Given the description of an element on the screen output the (x, y) to click on. 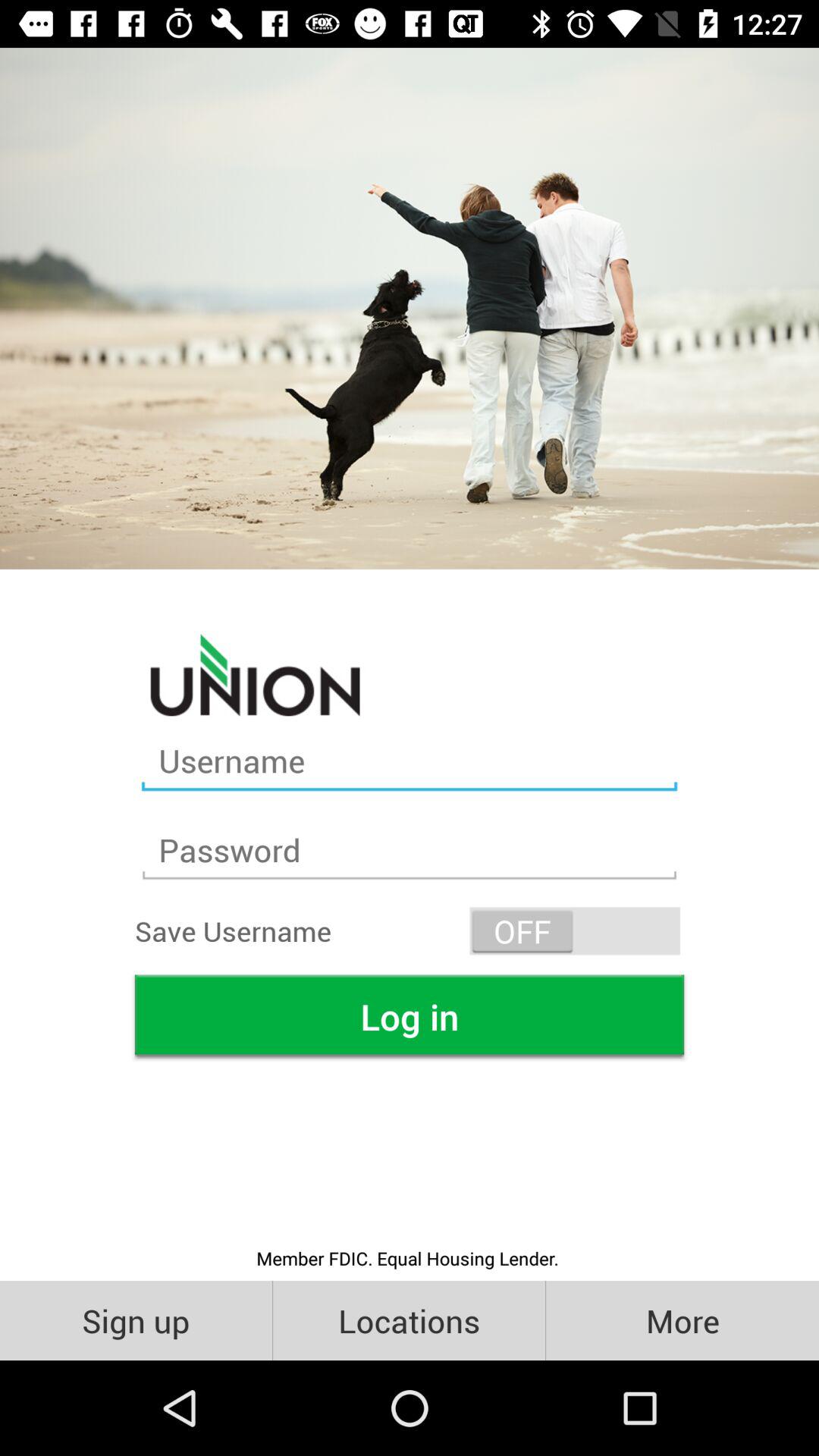
click item next to the save username (574, 930)
